Given the description of an element on the screen output the (x, y) to click on. 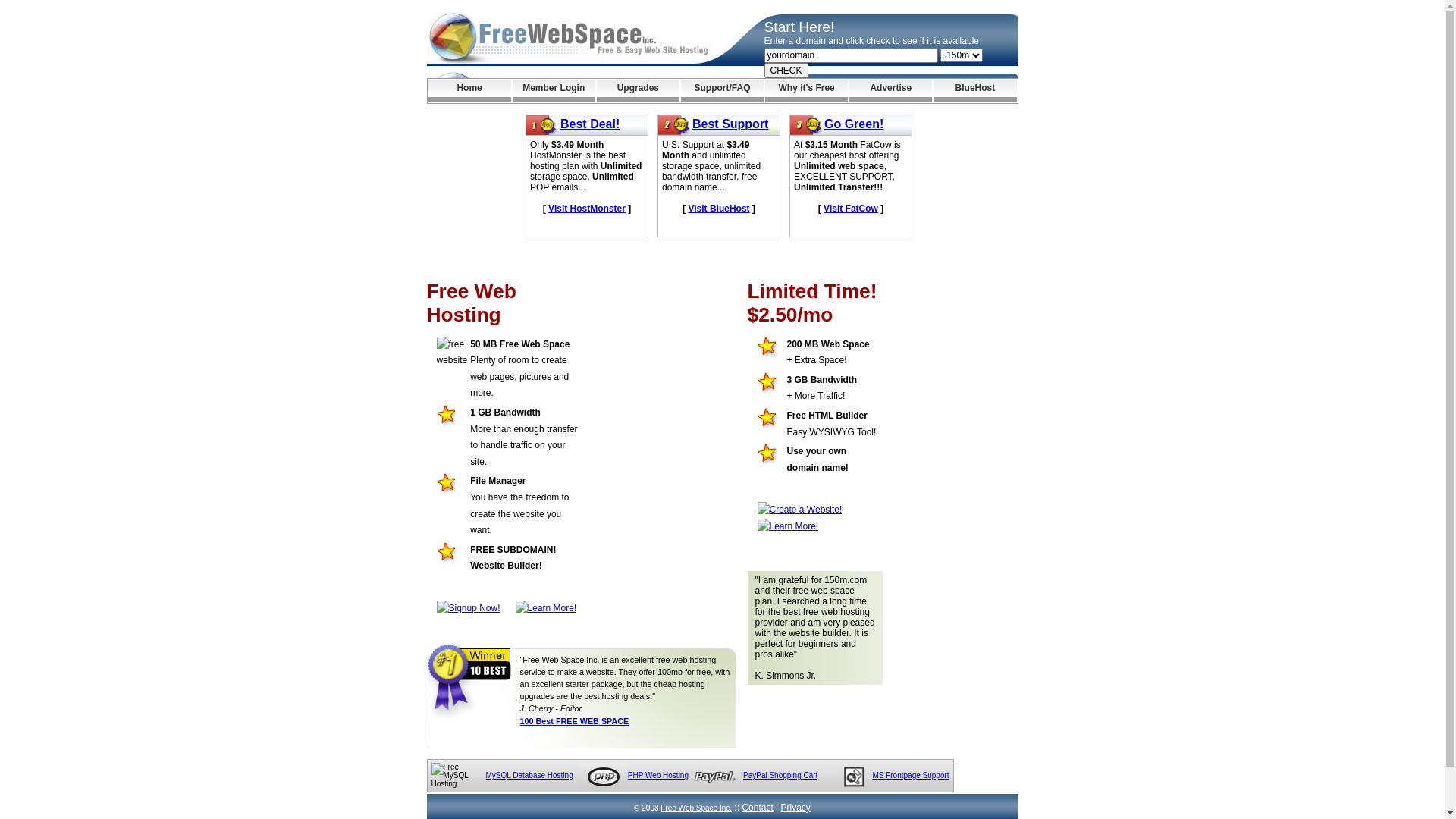
Why it's Free Element type: text (806, 90)
MySQL Database Hosting Element type: text (528, 775)
PHP Web Hosting Element type: text (657, 775)
CHECK Element type: text (786, 70)
Advertise Element type: text (890, 90)
MS Frontpage Support Element type: text (910, 775)
Free Web Space Inc. Element type: text (695, 807)
PayPal Shopping Cart Element type: text (780, 775)
Support/FAQ Element type: text (721, 90)
Contact Element type: text (756, 807)
Upgrades Element type: text (637, 90)
Privacy Element type: text (795, 807)
Member Login Element type: text (553, 90)
BlueHost Element type: text (974, 90)
Home Element type: text (468, 90)
100 Best FREE WEB SPACE Element type: text (574, 720)
